Given the description of an element on the screen output the (x, y) to click on. 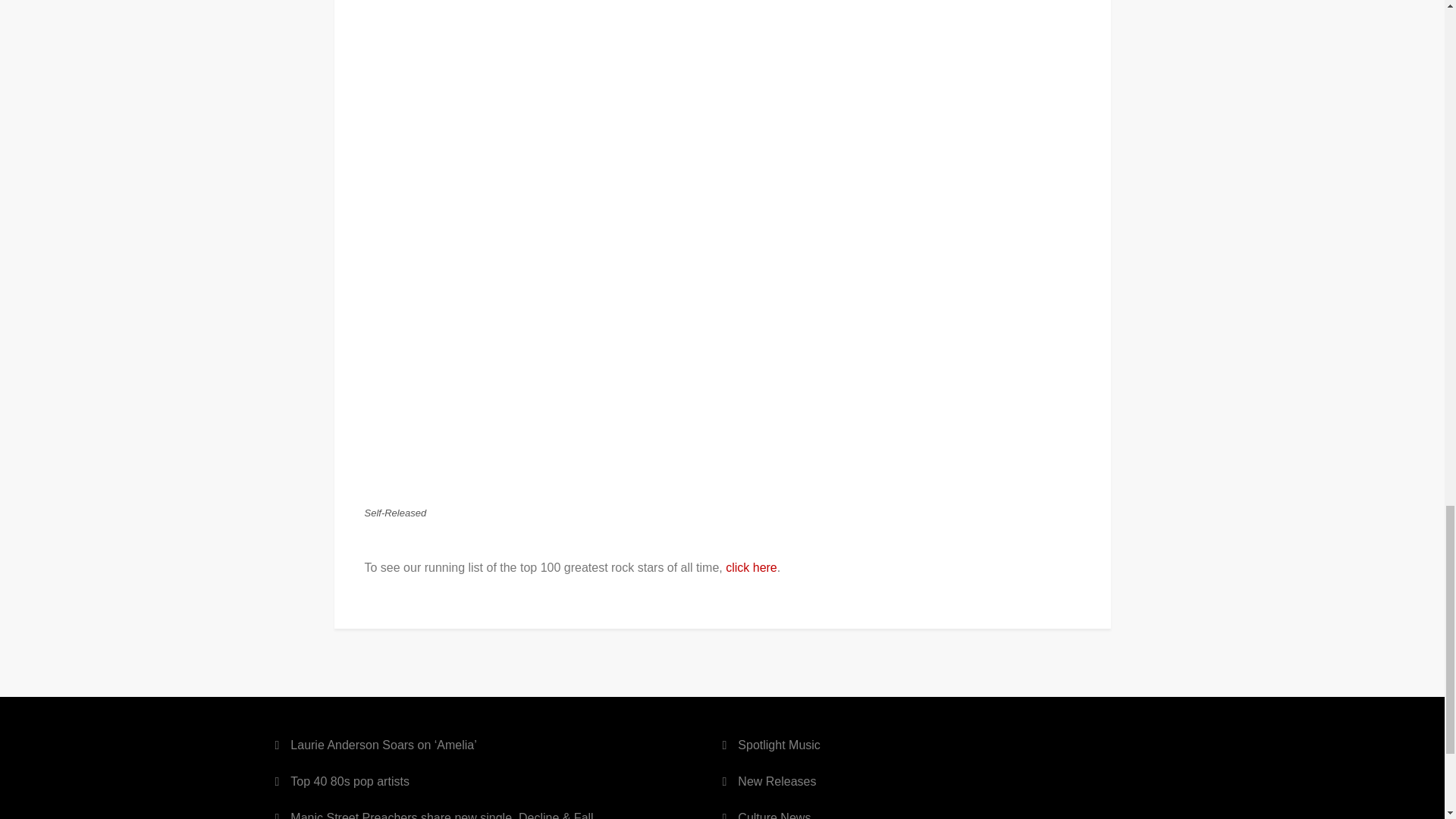
Culture News (774, 813)
click here (751, 567)
Spotlight Music (779, 744)
New Releases (776, 781)
Top 40 80s pop artists (349, 781)
